Given the description of an element on the screen output the (x, y) to click on. 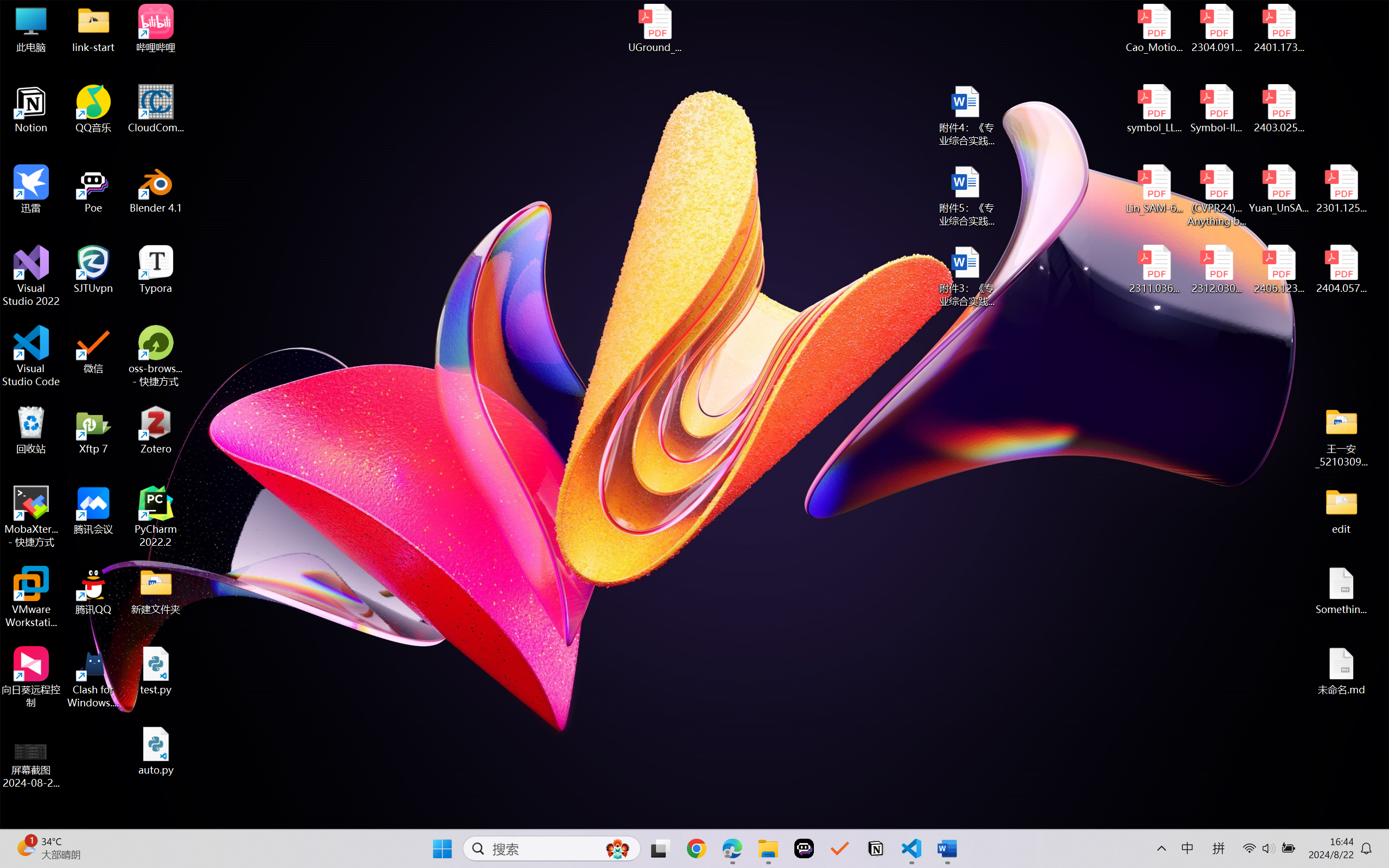
VMware Workstation Pro (31, 597)
2312.03032v2.pdf (1216, 269)
test.py (156, 670)
2403.02502v1.pdf (1278, 109)
